Given the description of an element on the screen output the (x, y) to click on. 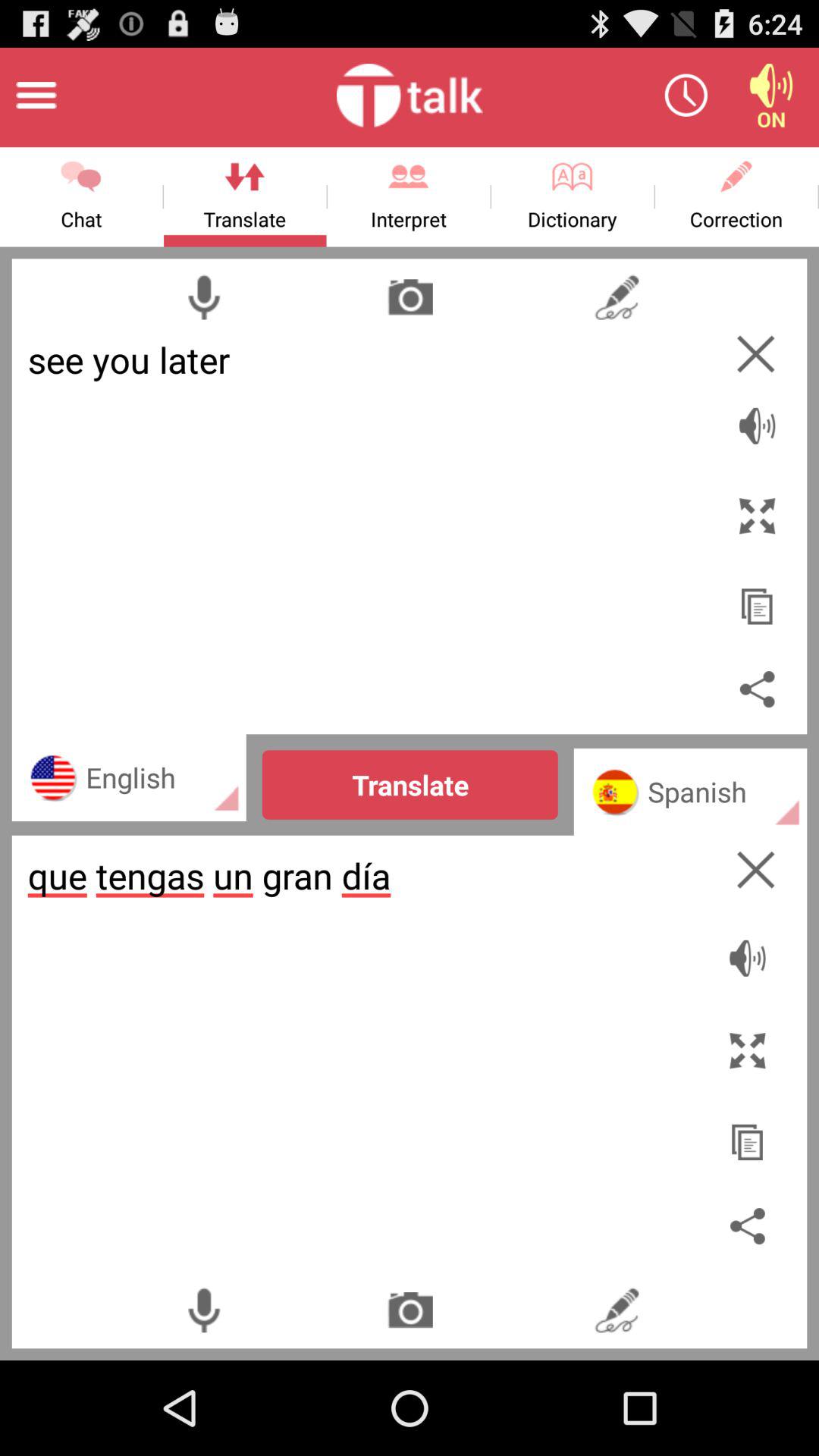
select pen tool (616, 1309)
